Given the description of an element on the screen output the (x, y) to click on. 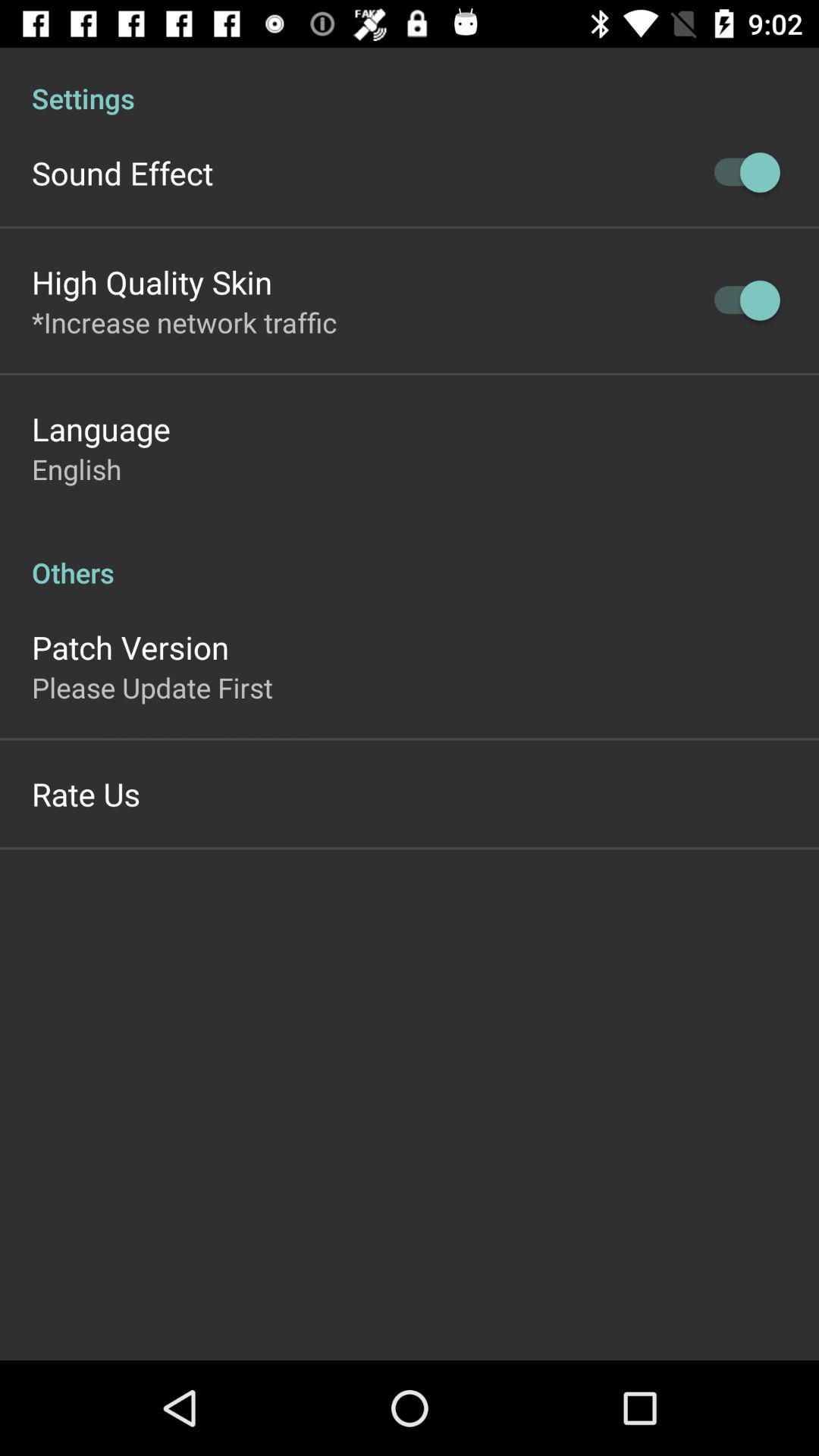
jump until the settings (409, 82)
